Given the description of an element on the screen output the (x, y) to click on. 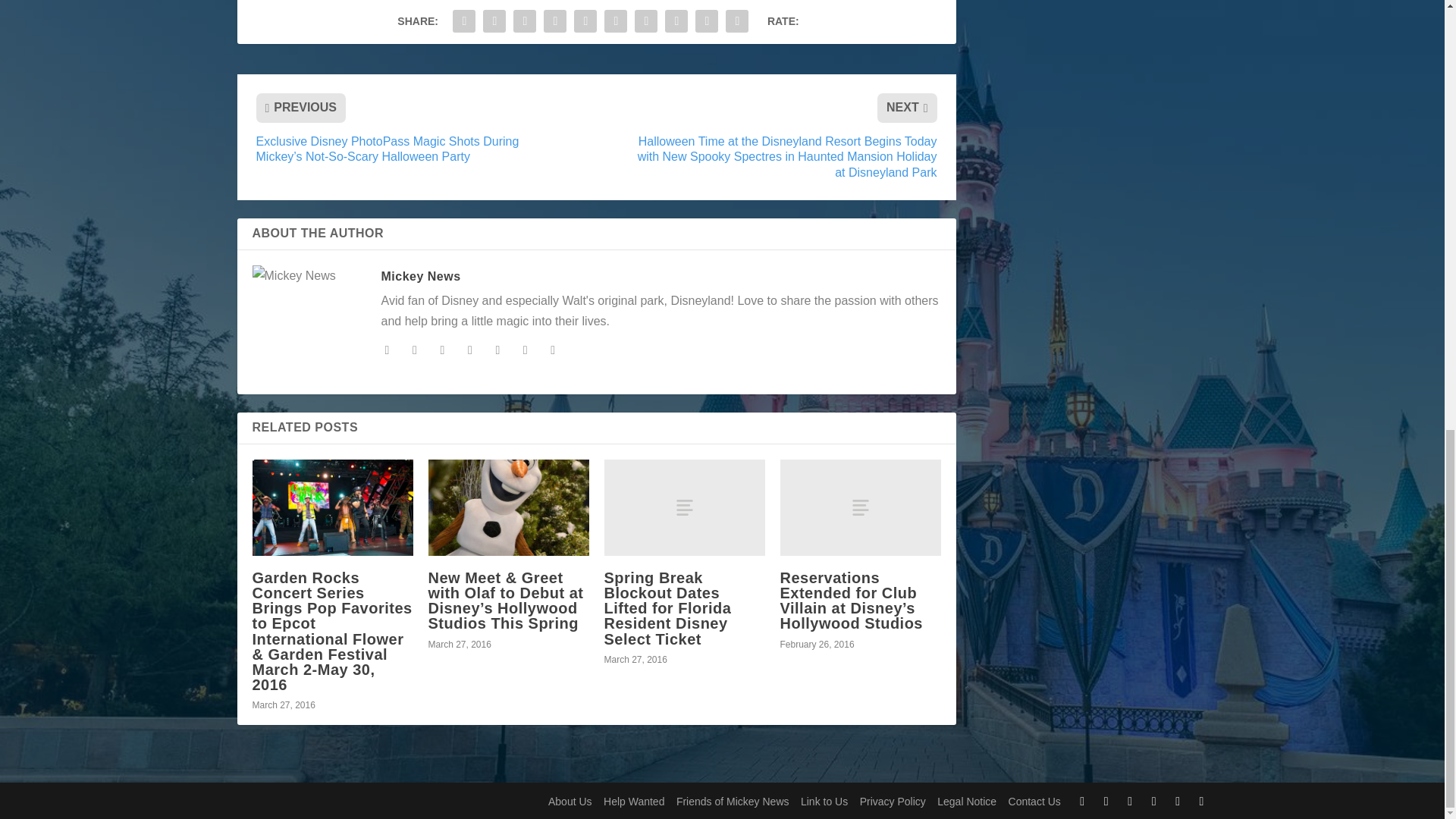
View all posts by Mickey News (420, 276)
